Given the description of an element on the screen output the (x, y) to click on. 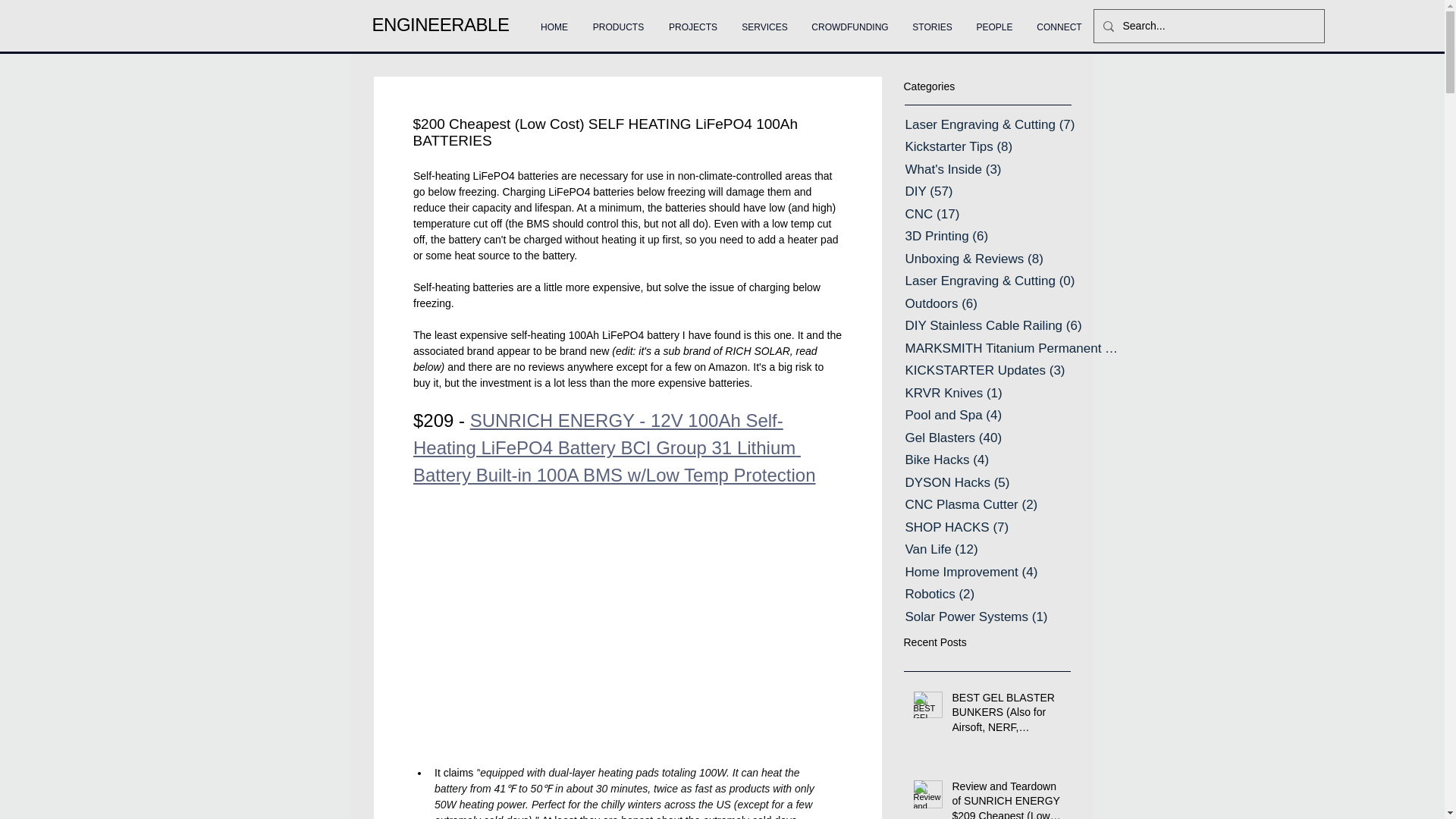
ENGINEERABLE (439, 24)
PRODUCTS (618, 20)
PROJECTS (693, 20)
MARKSMITH Titanium Permanent Marker (1015, 348)
PEOPLE (994, 20)
CONNECT (1059, 20)
ricos-video (626, 562)
HOME (553, 20)
